Given the description of an element on the screen output the (x, y) to click on. 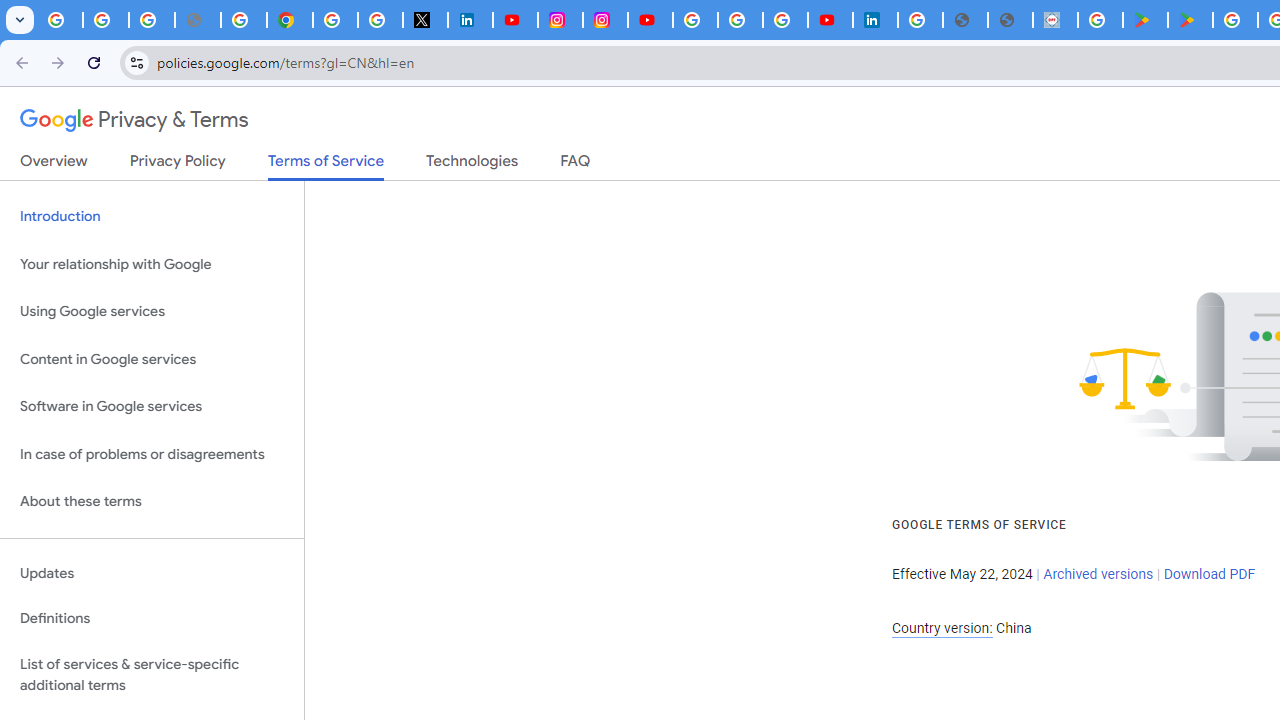
Sign in - Google Accounts (335, 20)
Software in Google services (152, 407)
User Details (1010, 20)
Android Apps on Google Play (1145, 20)
